Given the description of an element on the screen output the (x, y) to click on. 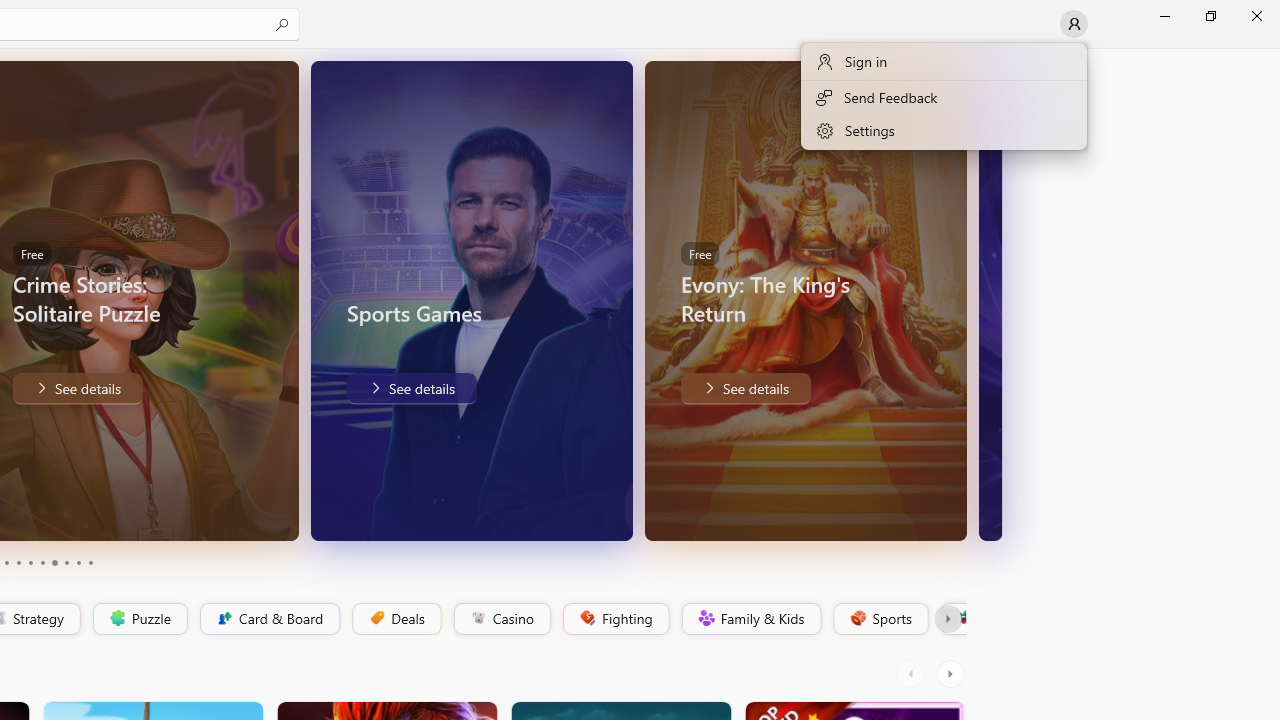
Page 5 (29, 562)
Page 4 (17, 562)
Deals (395, 619)
Play Trailer (897, 512)
Page 3 (5, 562)
Class: Button (947, 619)
Page 10 (90, 562)
Card & Board (268, 619)
AutomationID: Image (989, 300)
